Given the description of an element on the screen output the (x, y) to click on. 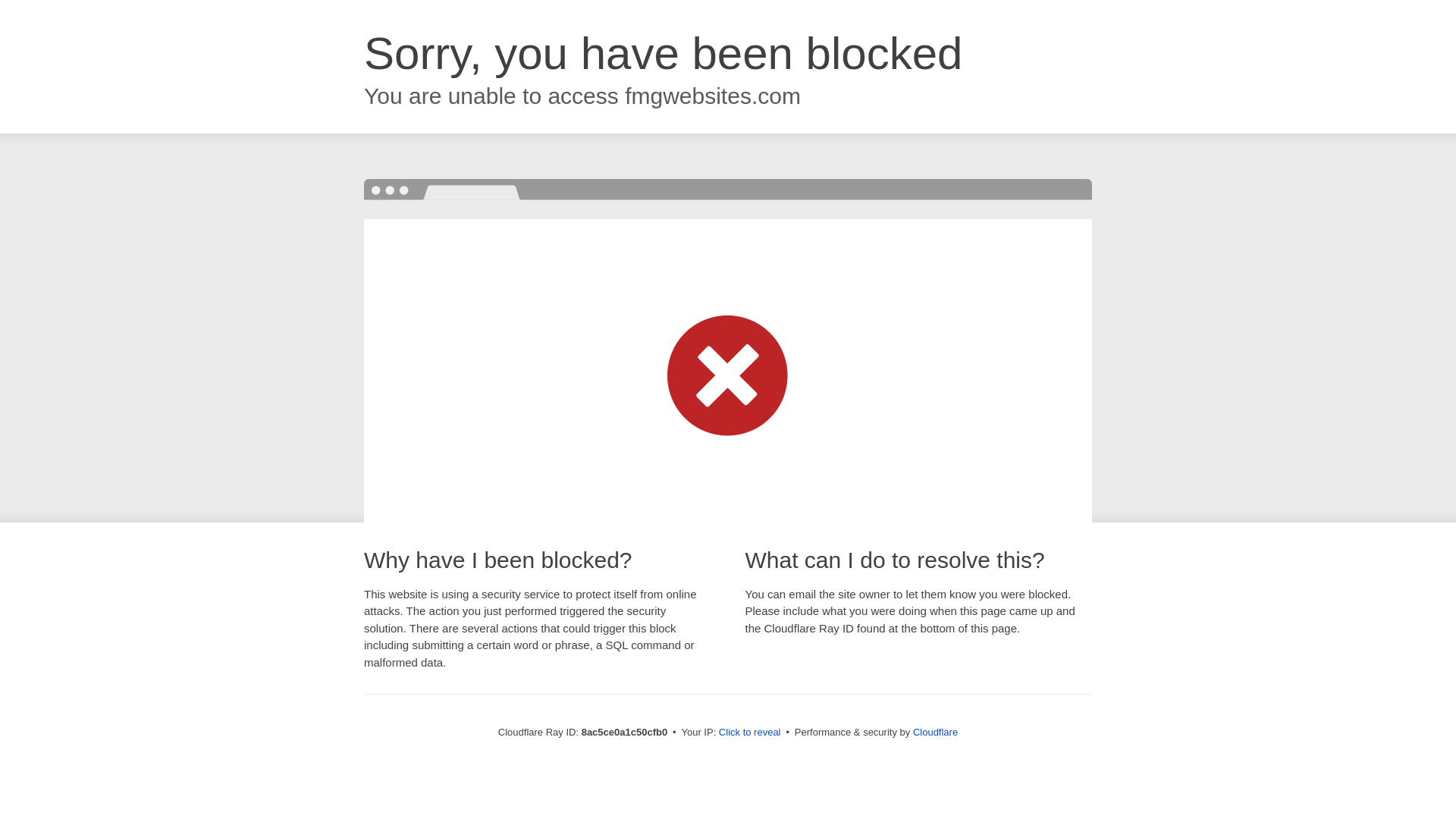
Cloudflare (935, 731)
Click to reveal (749, 732)
